Given the description of an element on the screen output the (x, y) to click on. 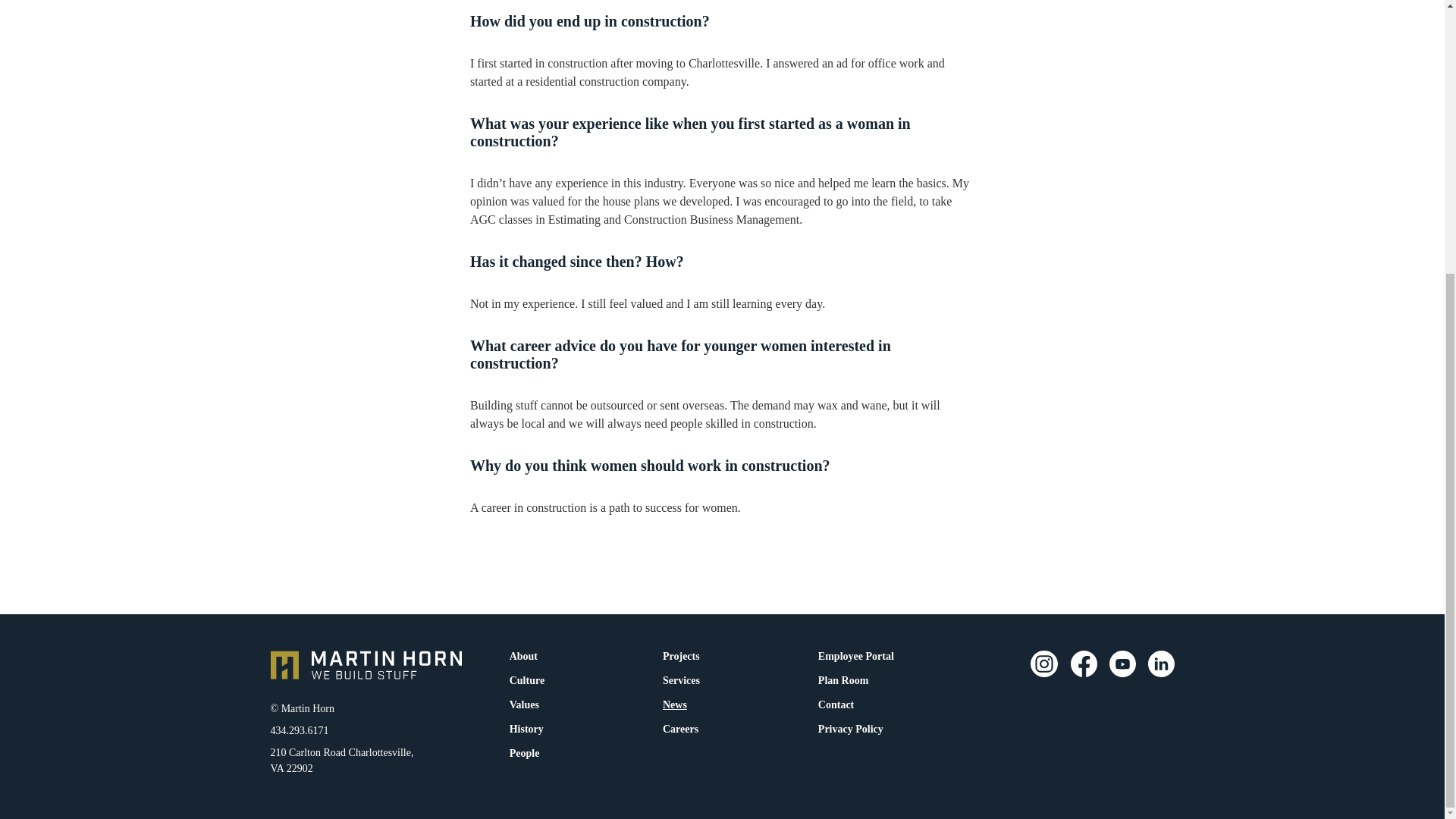
About (523, 654)
Culture (526, 679)
Values (523, 703)
